Given the description of an element on the screen output the (x, y) to click on. 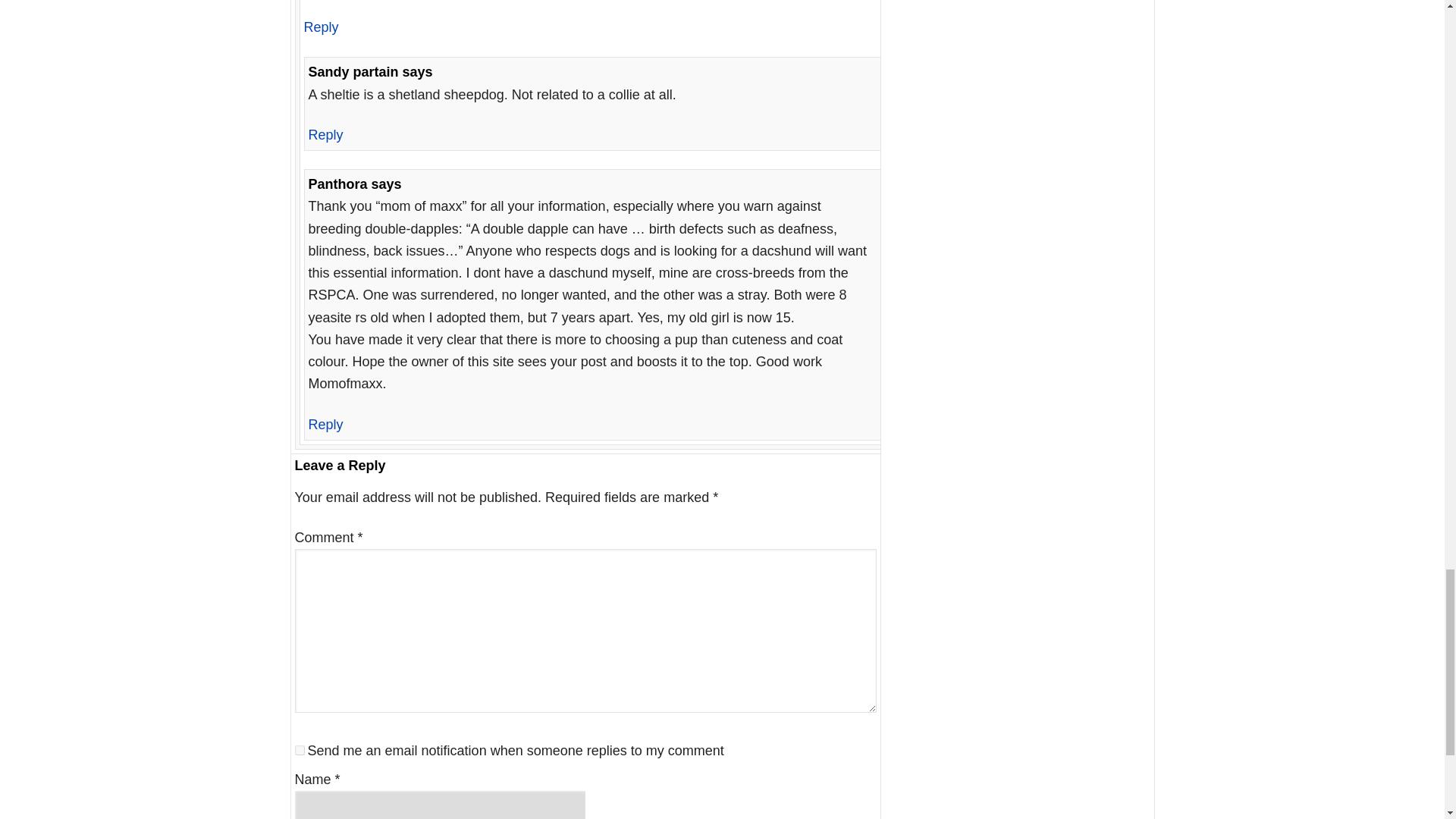
Reply (324, 134)
Reply (324, 424)
1 (299, 750)
Reply (319, 27)
